Given the description of an element on the screen output the (x, y) to click on. 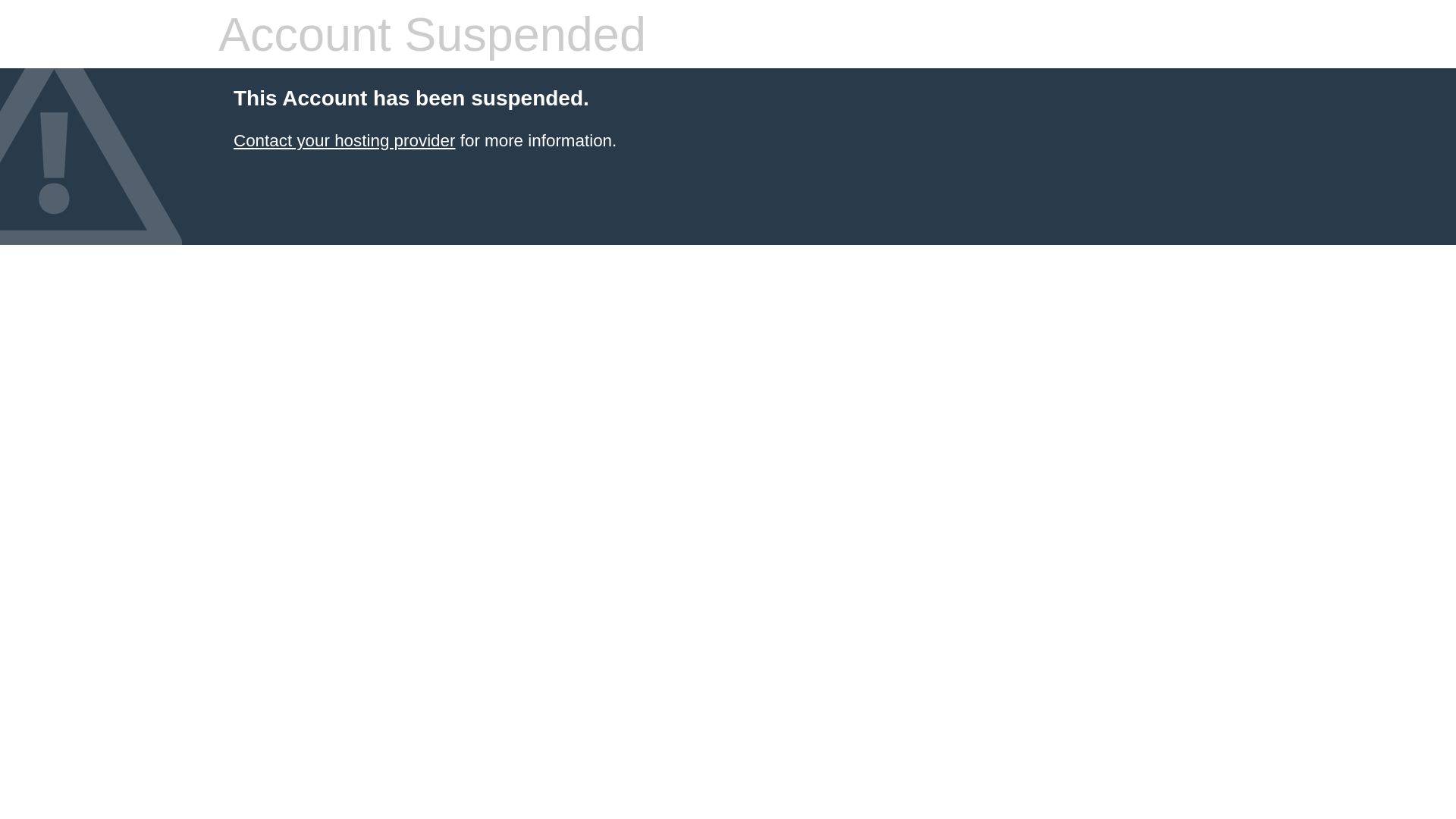
Contact your hosting provider Element type: text (344, 140)
